Given the description of an element on the screen output the (x, y) to click on. 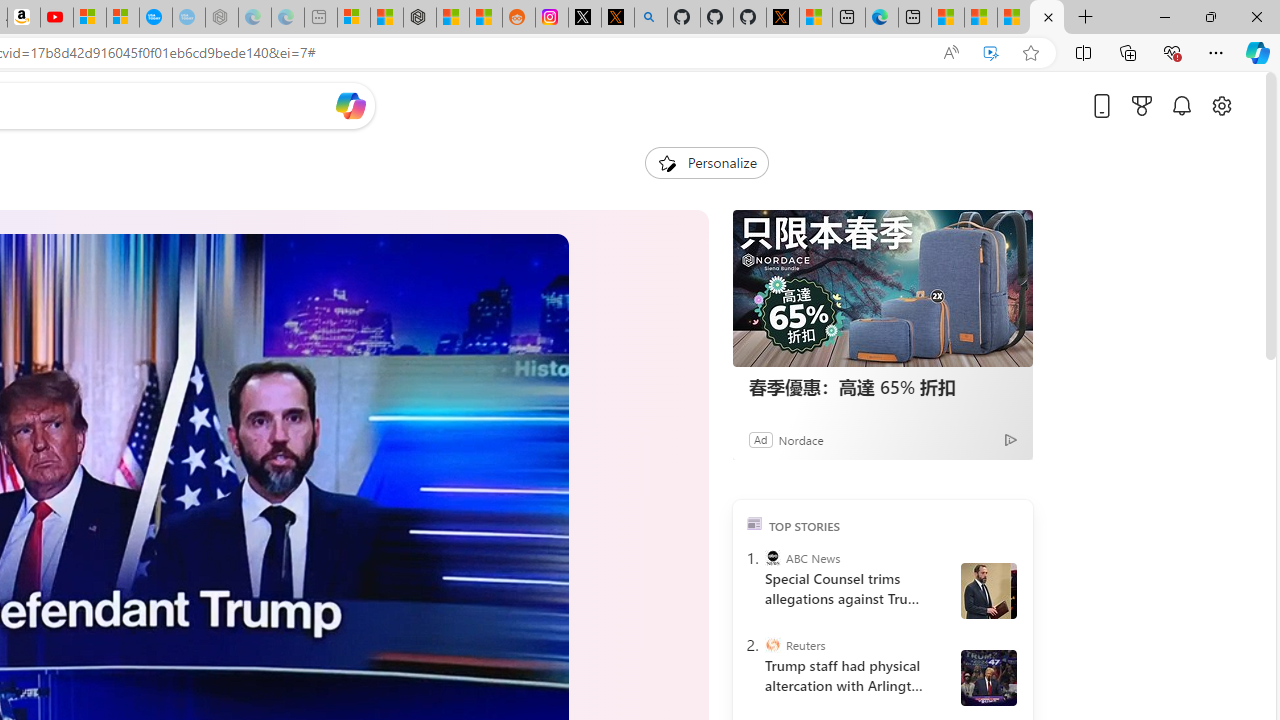
Microsoft account | Microsoft Account Privacy Settings (353, 17)
Personalize (706, 162)
help.x.com | 524: A timeout occurred (617, 17)
To get missing image descriptions, open the context menu. (666, 162)
Opinion: Op-Ed and Commentary - USA TODAY (155, 17)
Enhance video (991, 53)
